Given the description of an element on the screen output the (x, y) to click on. 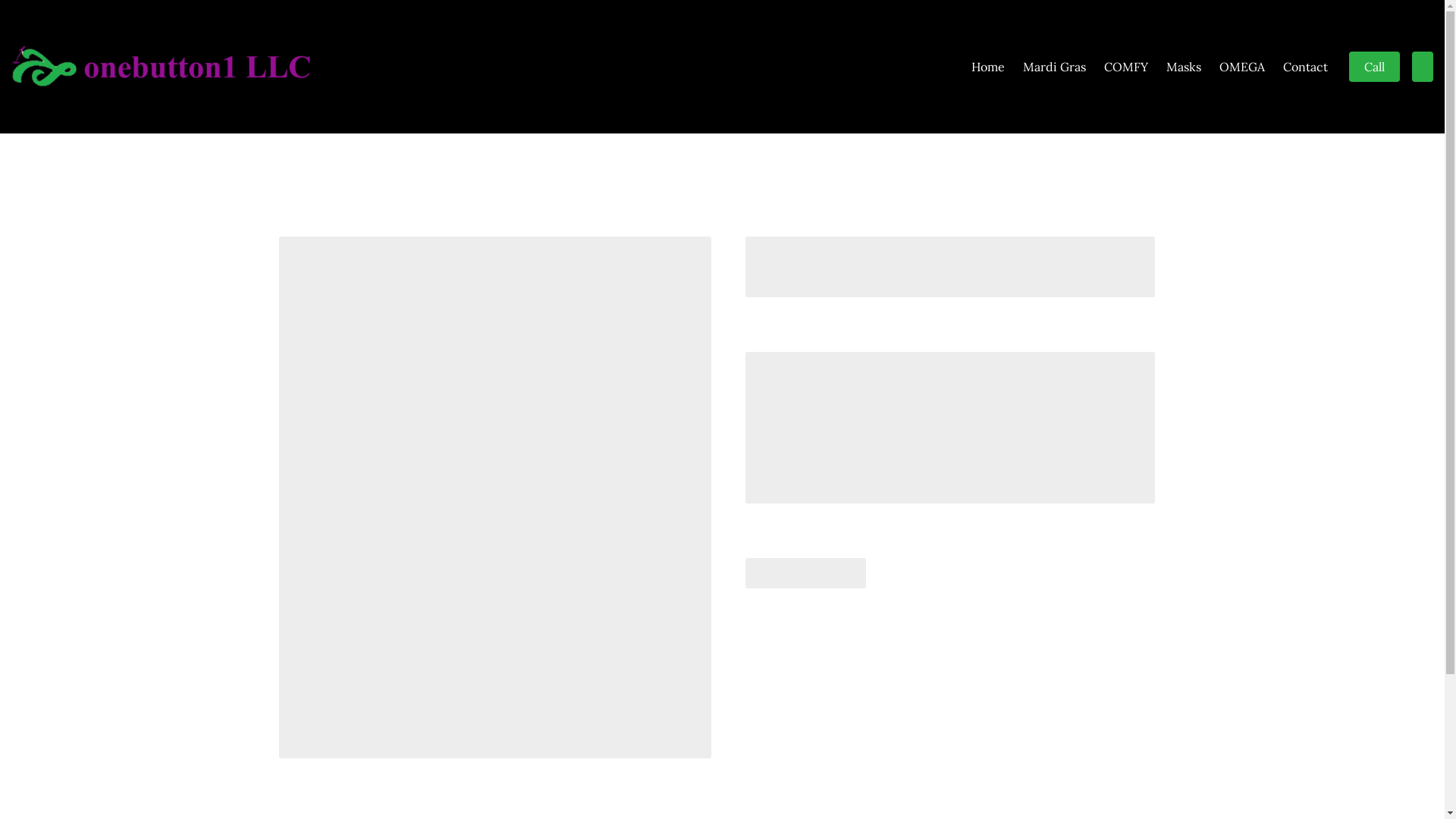
OMEGA Element type: text (1241, 66)
Masks Element type: text (1183, 66)
Contact Element type: text (1305, 66)
COMFY Element type: text (1126, 66)
Home Element type: text (987, 66)
Call Element type: text (1374, 66)
Mardi Gras Element type: text (1053, 66)
